Given the description of an element on the screen output the (x, y) to click on. 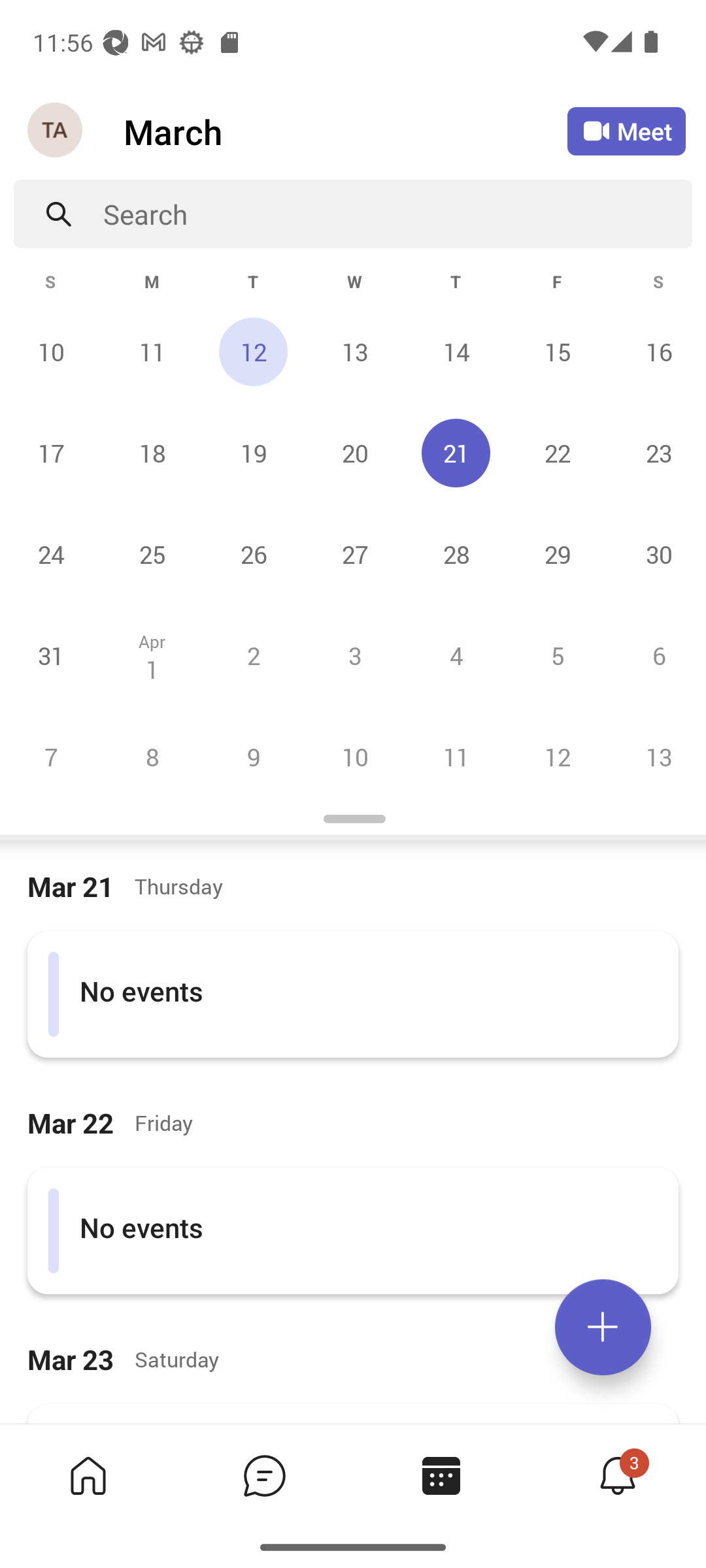
Navigation (56, 130)
Meet Meet now or join with an ID (626, 130)
March March Calendar Agenda View (345, 131)
Search (397, 213)
Sunday, March 10 10 (50, 351)
Monday, March 11 11 (151, 351)
Tuesday, March 12, Today 12 (253, 351)
Wednesday, March 13 13 (354, 351)
Thursday, March 14 14 (455, 351)
Friday, March 15 15 (556, 351)
Saturday, March 16 16 (656, 351)
Sunday, March 17 17 (50, 452)
Monday, March 18 18 (151, 452)
Tuesday, March 19 19 (253, 452)
Wednesday, March 20 20 (354, 452)
Thursday, March 21, Selected 21 (455, 452)
Friday, March 22 22 (556, 452)
Saturday, March 23 23 (656, 452)
Sunday, March 24 24 (50, 554)
Monday, March 25 25 (151, 554)
Tuesday, March 26 26 (253, 554)
Wednesday, March 27 27 (354, 554)
Thursday, March 28 28 (455, 554)
Friday, March 29 29 (556, 554)
Saturday, March 30 30 (656, 554)
Sunday, March 31 31 (50, 655)
Monday, April 1 Apr 1 (151, 655)
Tuesday, April 2 2 (253, 655)
Wednesday, April 3 3 (354, 655)
Thursday, April 4 4 (455, 655)
Friday, April 5 5 (556, 655)
Saturday, April 6 6 (656, 655)
Sunday, April 7 7 (50, 756)
Monday, April 8 8 (151, 756)
Tuesday, April 9 9 (253, 756)
Wednesday, April 10 10 (354, 756)
Thursday, April 11 11 (455, 756)
Friday, April 12 12 (556, 756)
Saturday, April 13 13 (656, 756)
Expand meetings menu (602, 1327)
Home tab,1 of 4, not selected (88, 1475)
Chat tab,2 of 4, not selected (264, 1475)
Calendar tab, 3 of 4 (441, 1475)
Activity tab,4 of 4, not selected, 3 new 3 (617, 1475)
